Given the description of an element on the screen output the (x, y) to click on. 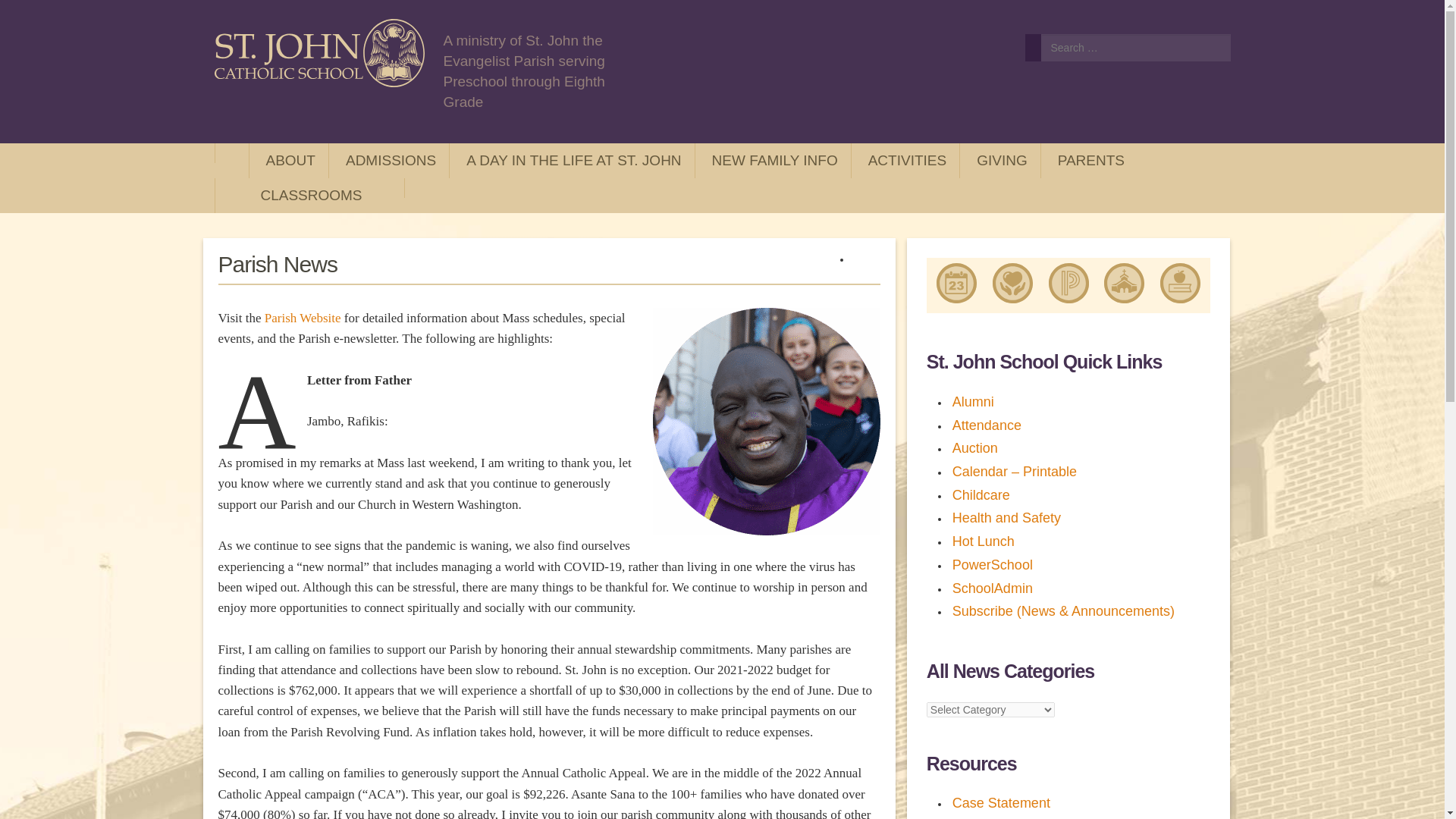
ABOUT (288, 160)
Admissions (388, 160)
ACTIVITIES (905, 160)
About (288, 160)
A DAY IN THE LIFE AT ST. JOHN (572, 160)
NEW FAMILY INFO (772, 160)
GIVING (999, 160)
ADMISSIONS (388, 160)
